Given the description of an element on the screen output the (x, y) to click on. 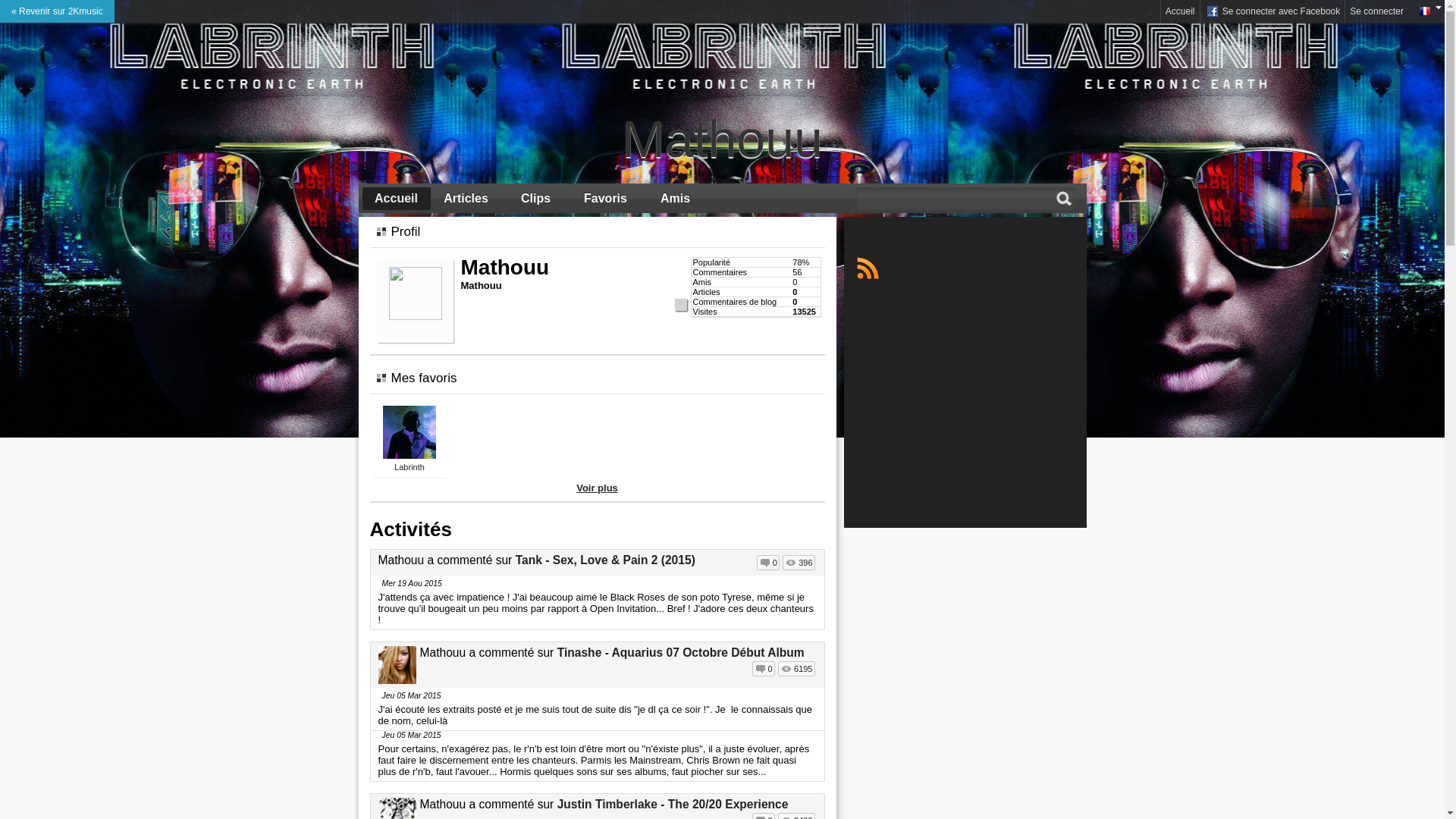
Clips Element type: text (536, 198)
Justin Timberlake - The 20/20 Experience Element type: text (672, 803)
Mathouu Element type: text (722, 138)
Se connecter Element type: text (1376, 11)
Favoris Element type: text (605, 198)
0 Element type: text (767, 562)
 Se connecter avec Facebook Element type: text (1272, 11)
Voir plus Element type: text (597, 487)
Tank - Sex, Love & Pain 2 (2015) Element type: text (605, 559)
  Element type: text (867, 267)
0 Element type: text (763, 668)
Accueil Element type: text (396, 198)
Amis Element type: text (675, 198)
Articles Element type: text (466, 198)
Labrinth Element type: text (409, 466)
Accueil Element type: text (1180, 11)
